Given the description of an element on the screen output the (x, y) to click on. 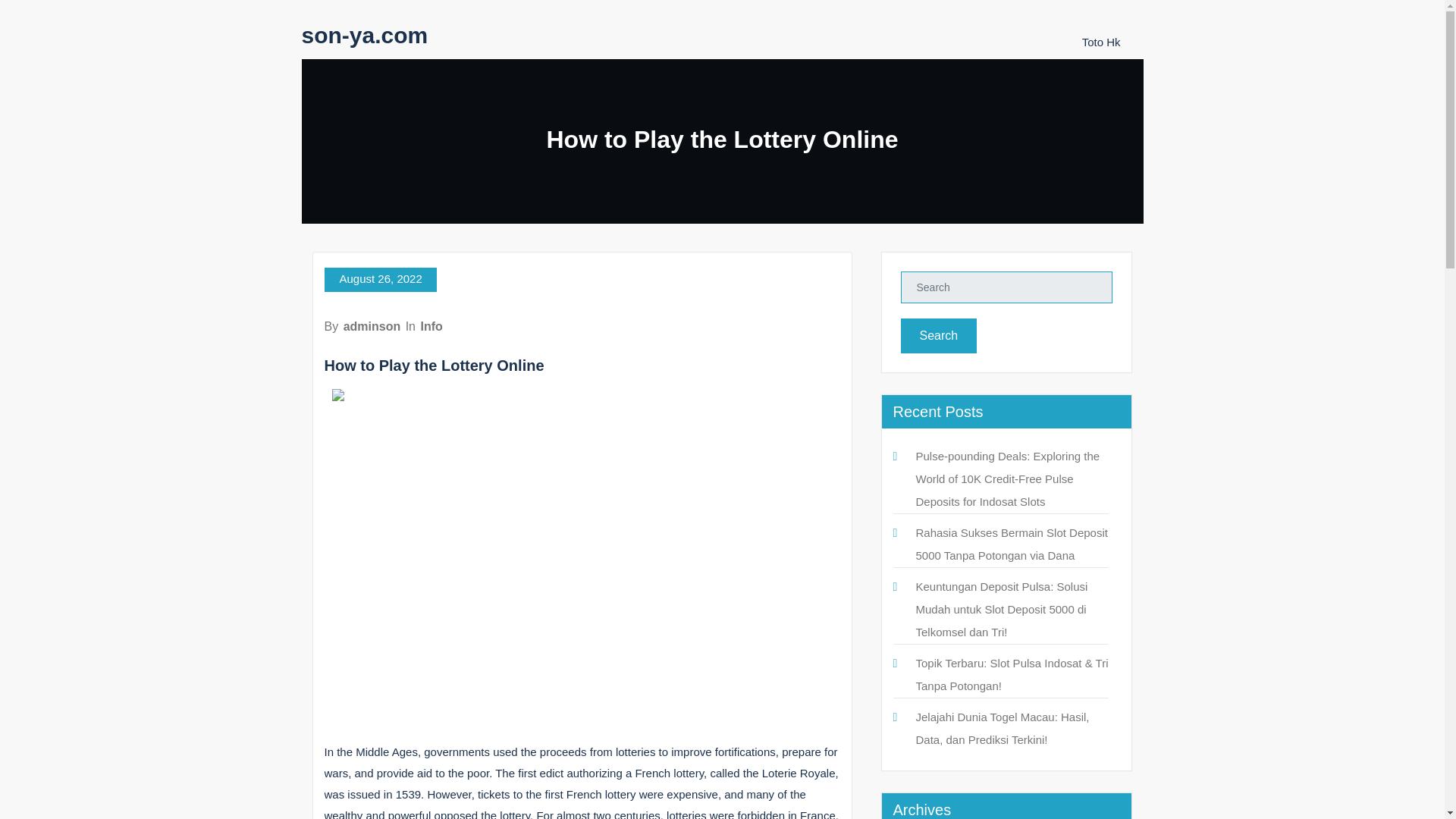
Search (938, 335)
Toto Hk (1101, 41)
adminson (372, 326)
Info (431, 326)
August 26, 2022 (380, 279)
